Given the description of an element on the screen output the (x, y) to click on. 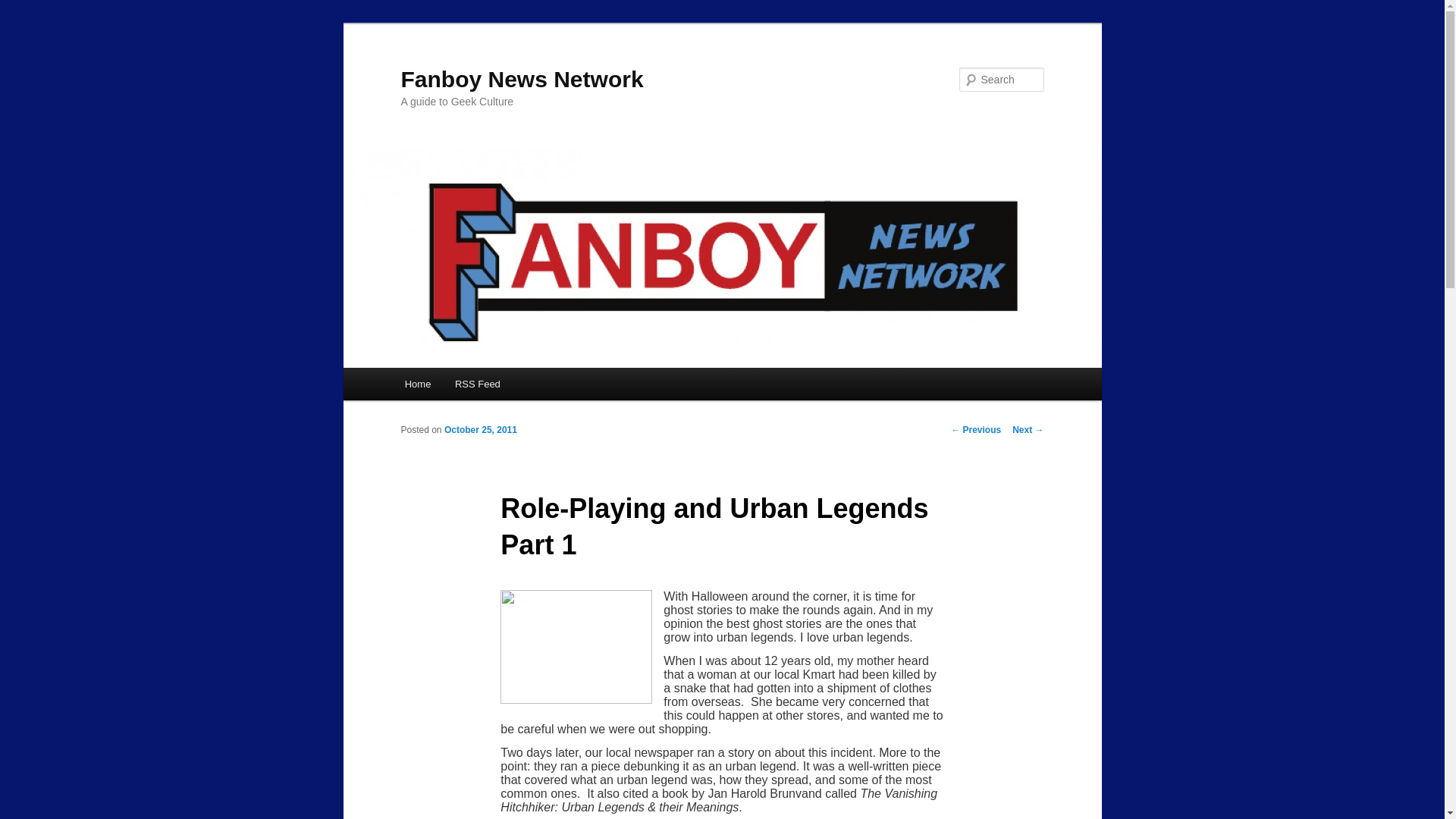
Search (24, 8)
1:34 PM (480, 429)
RSS Feed (477, 383)
Fanboy News Network (521, 78)
Home (417, 383)
October 25, 2011 (480, 429)
